Given the description of an element on the screen output the (x, y) to click on. 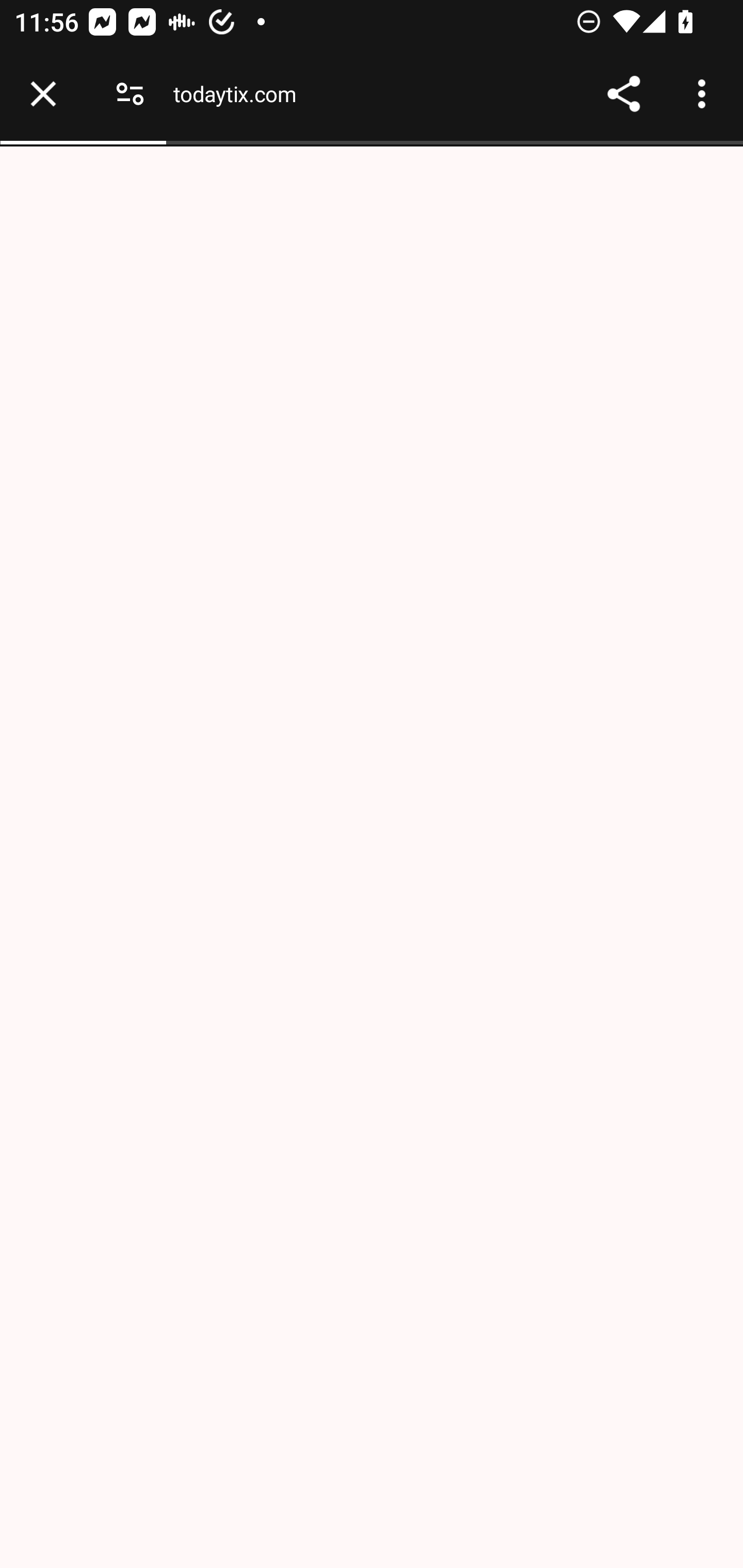
Close tab (43, 93)
Share link address (623, 93)
Customize and control Google Chrome (705, 93)
Your connection to this site is not secure (129, 93)
link.todaytix.com (262, 93)
